Given the description of an element on the screen output the (x, y) to click on. 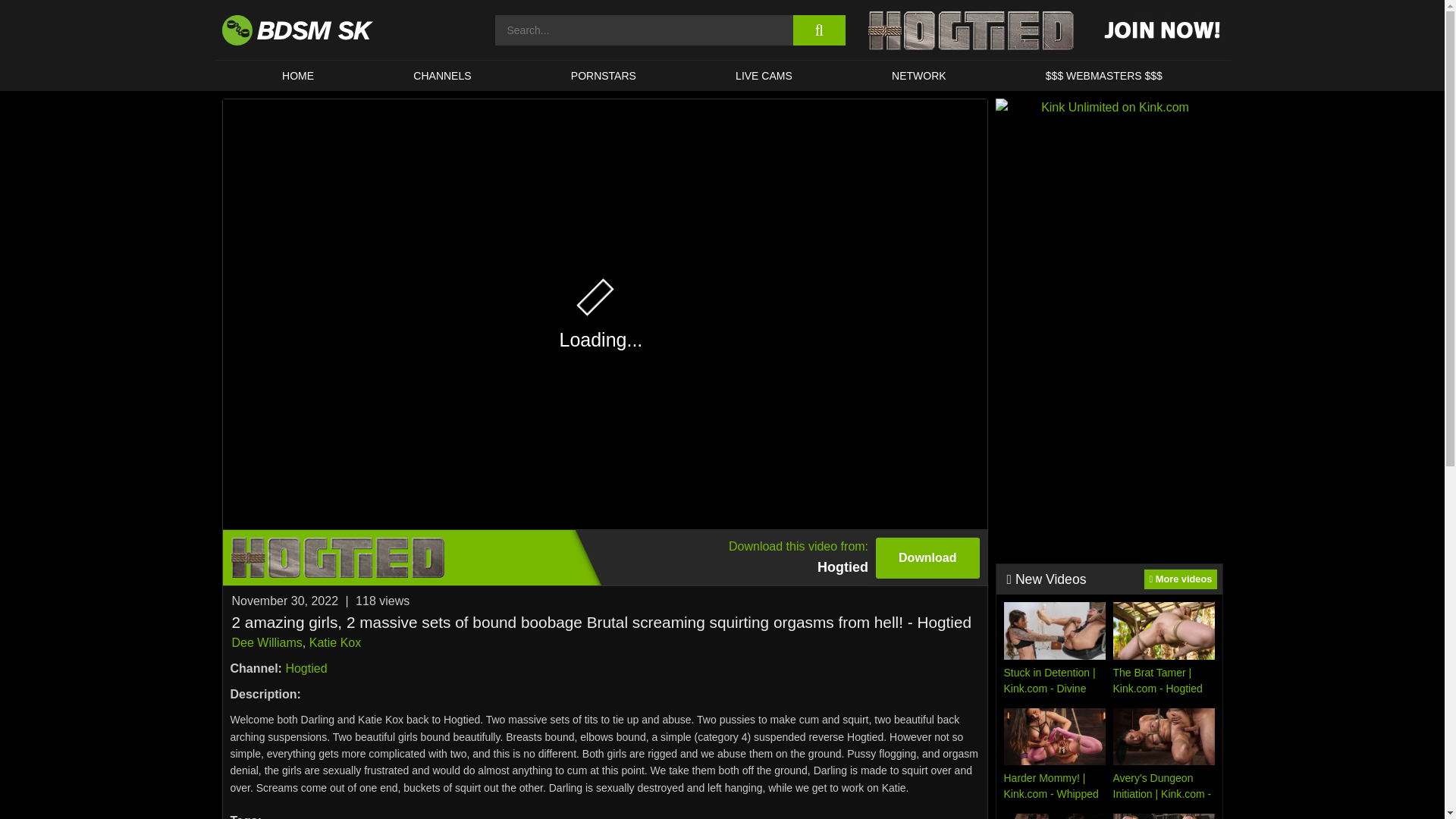
NETWORK (918, 75)
Dee Williams (266, 642)
PORNSTARS (603, 75)
Hogtied (305, 667)
Watch Kink Unlimited on Kink.com (1108, 206)
HOME (296, 75)
Katie Kox (334, 642)
LIVE CAMS (763, 75)
CHANNELS (442, 75)
